Given the description of an element on the screen output the (x, y) to click on. 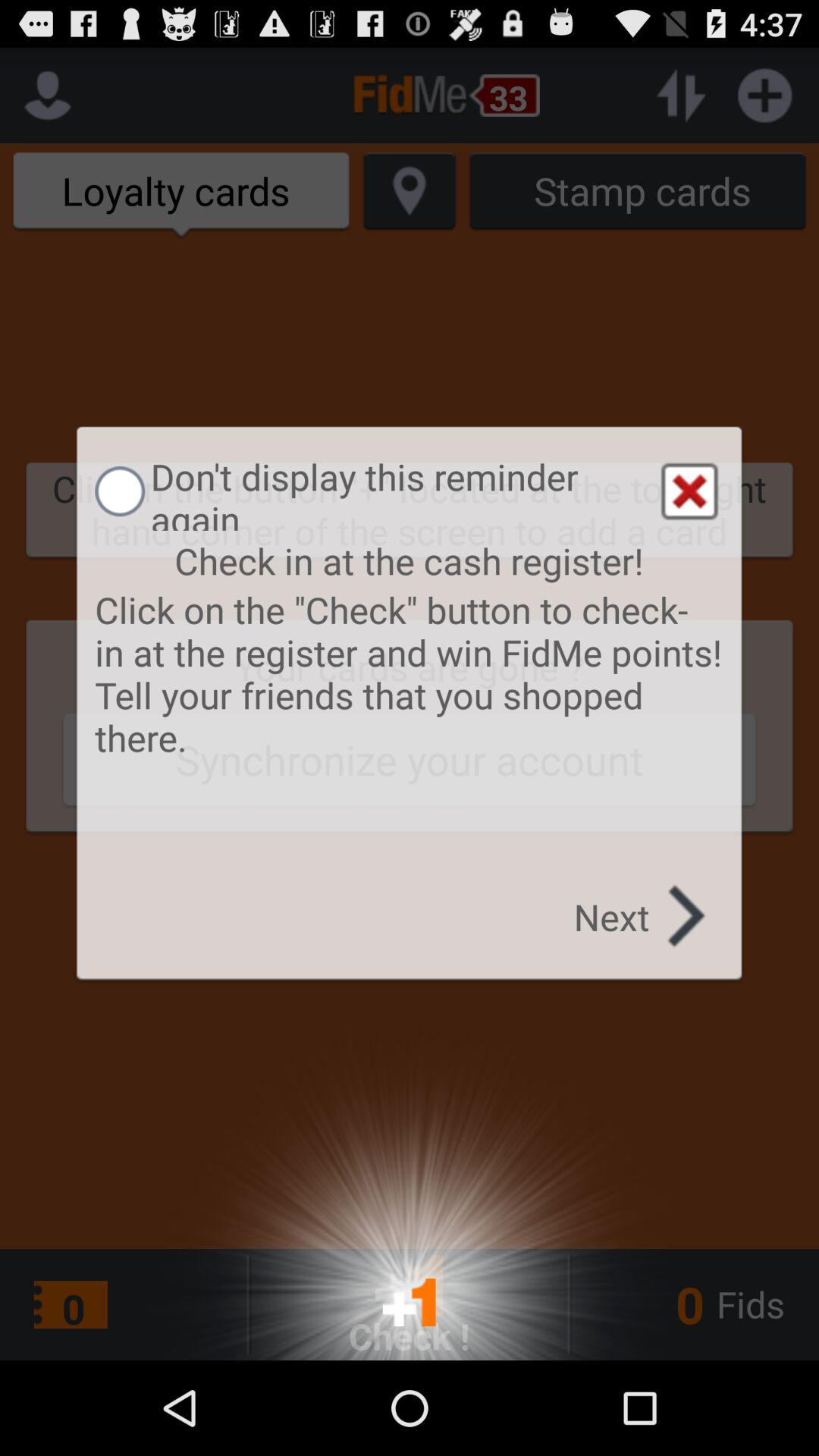
tap the item above the check in at item (689, 491)
